Given the description of an element on the screen output the (x, y) to click on. 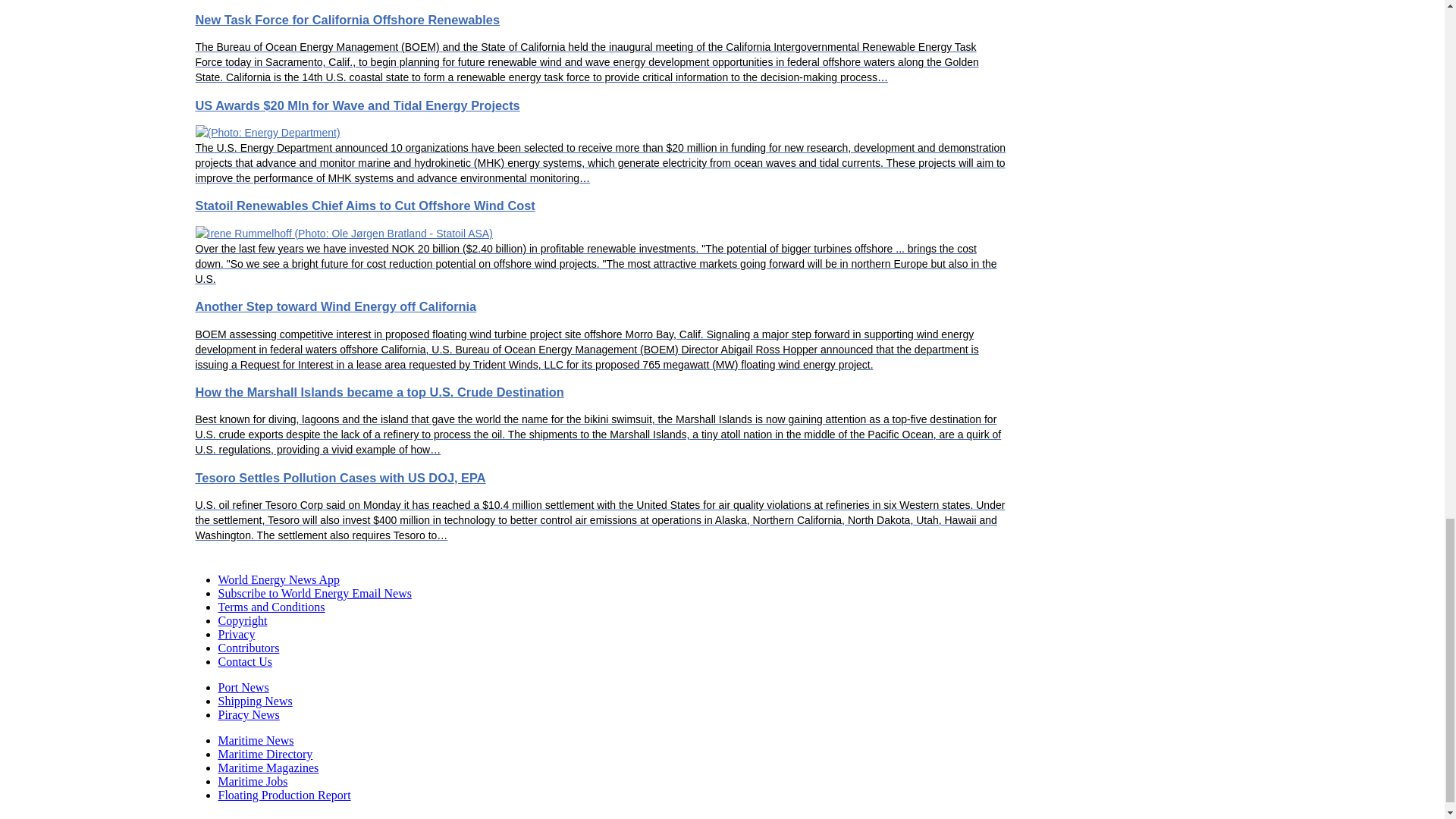
Port News (243, 686)
Shipping News (255, 700)
Piracy News (248, 714)
